Given the description of an element on the screen output the (x, y) to click on. 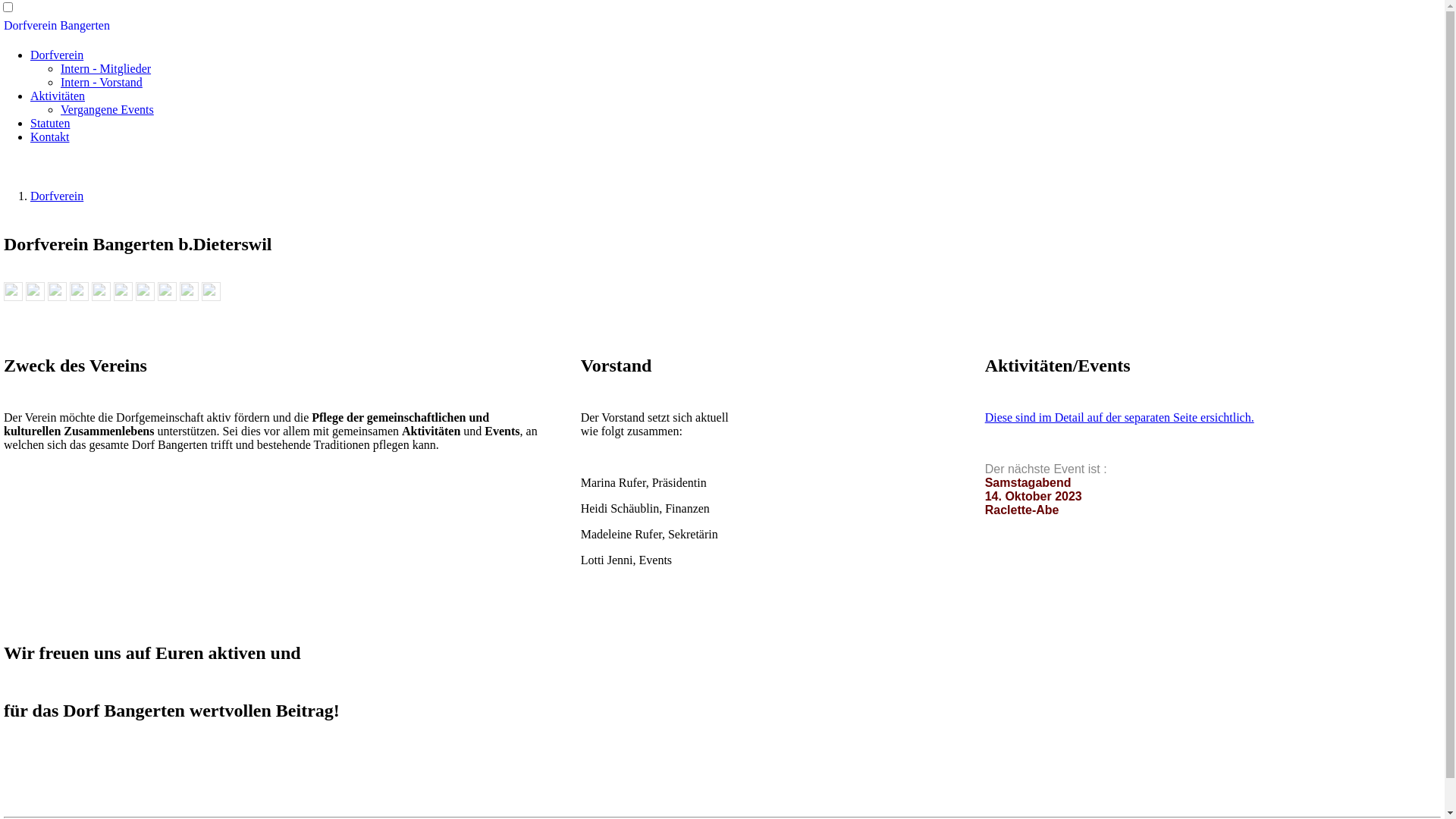
Dorfverein Bangerten Element type: text (721, 25)
Vergangene Events Element type: text (106, 109)
Intern - Vorstand Element type: text (101, 81)
Statuten Element type: text (49, 122)
Diese sind im Detail auf der separaten Seite ersichtlich. Element type: text (1119, 417)
Dorfverein Element type: text (56, 54)
Kontakt Element type: text (49, 136)
Intern - Mitglieder Element type: text (105, 68)
Dorfverein Element type: text (56, 195)
